Given the description of an element on the screen output the (x, y) to click on. 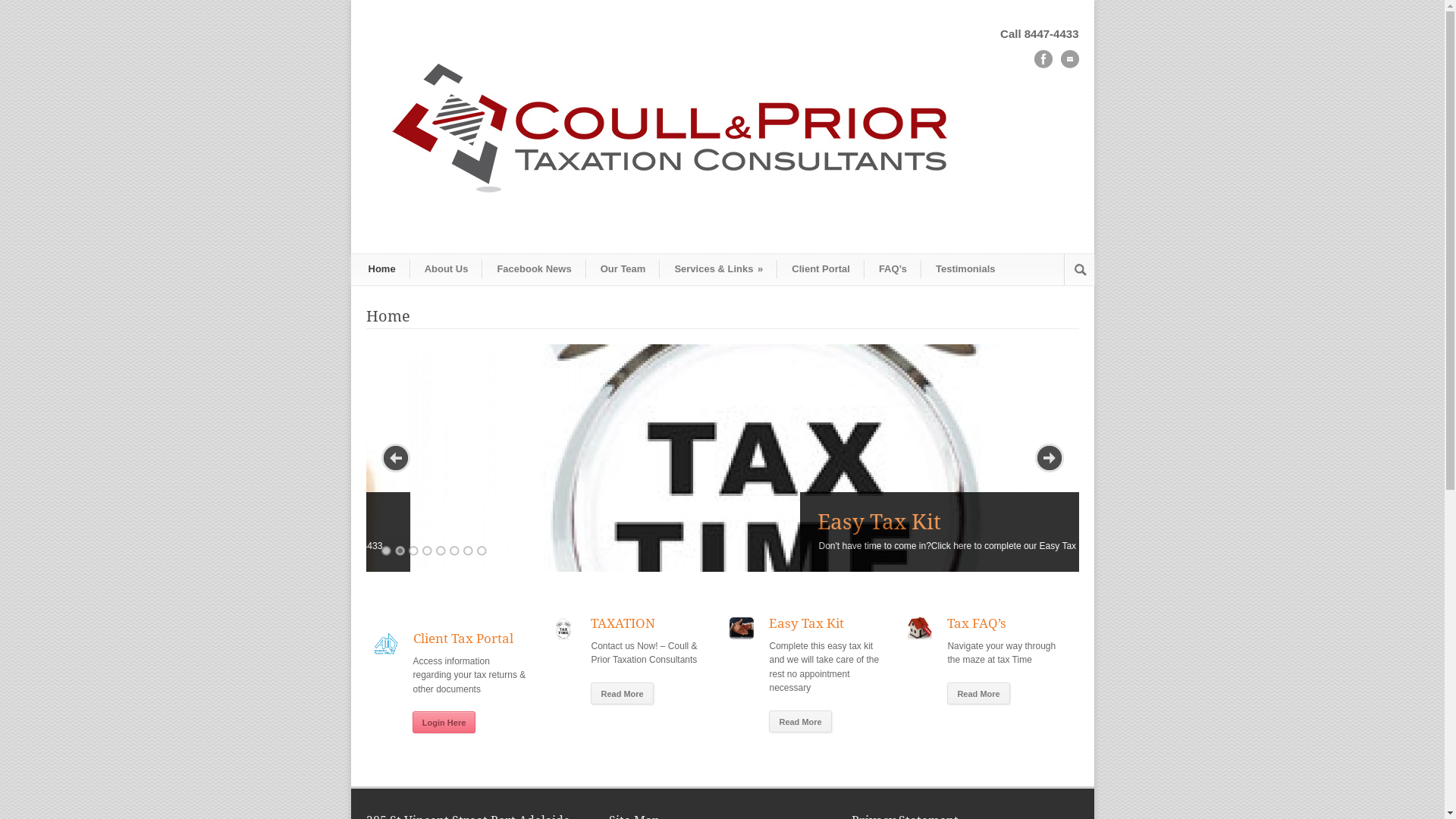
6 Element type: text (453, 550)
Home Element type: text (382, 269)
4 Element type: text (426, 550)
Read More Element type: text (621, 693)
1 Element type: text (385, 550)
2 Element type: text (399, 550)
Previous Element type: text (394, 457)
8 Element type: text (481, 550)
3 Element type: text (412, 550)
Facebook News Element type: text (533, 269)
About Us Element type: text (446, 269)
Read More Element type: text (978, 693)
7 Element type: text (467, 550)
Testimonials Element type: text (965, 269)
Our Team Element type: text (623, 269)
Login Here Element type: text (443, 722)
5 Element type: text (440, 550)
Next Element type: text (1048, 457)
Client Portal Element type: text (820, 269)
Read More Element type: text (799, 721)
